Given the description of an element on the screen output the (x, y) to click on. 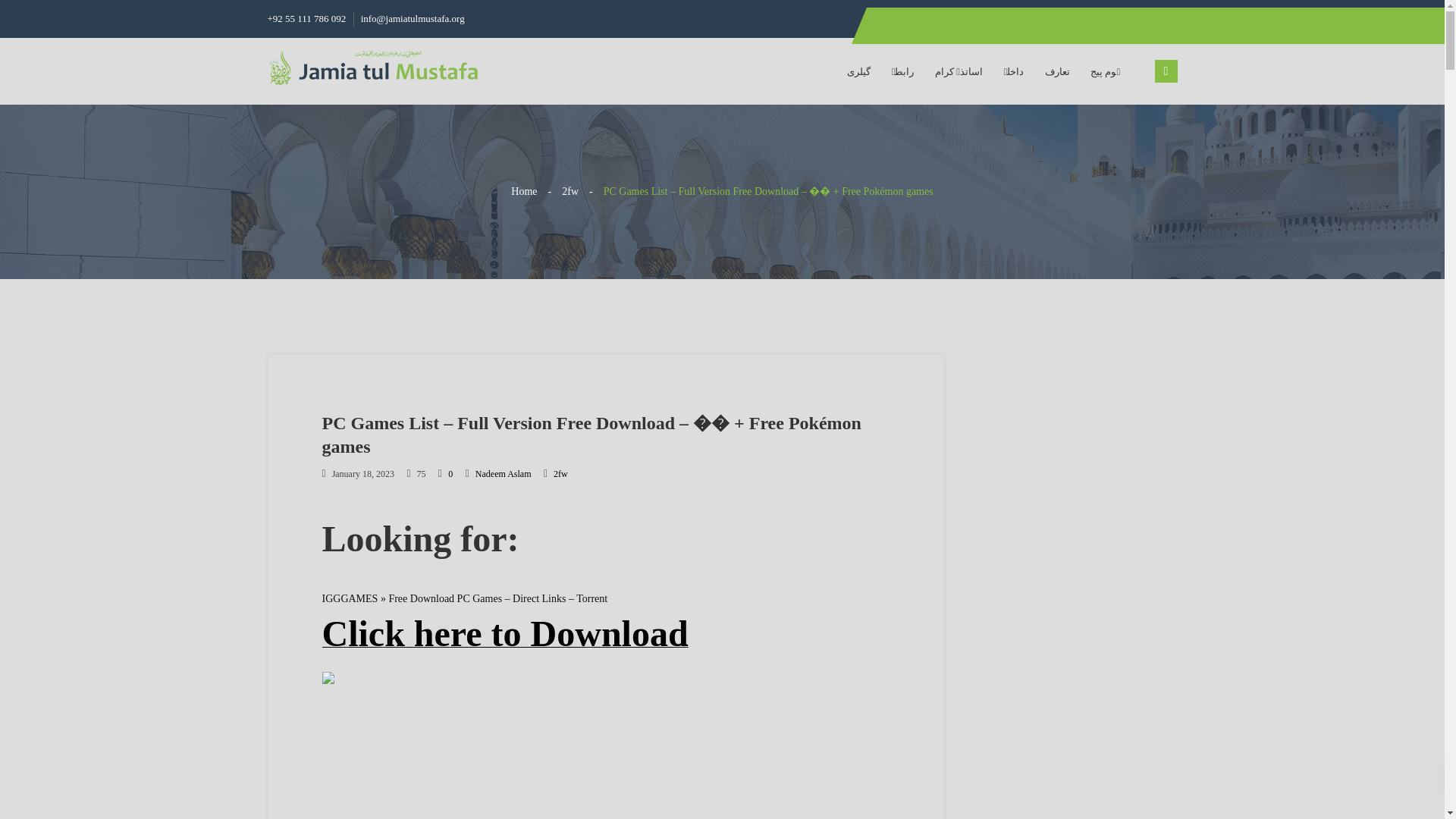
2fw (570, 191)
Nadeem Aslam (503, 473)
Home (524, 191)
2fw (560, 473)
Home (524, 191)
Click here to Download (504, 642)
Jamiat-ul-Mustafa (371, 67)
Posts by Nadeem Aslam (503, 473)
